Given the description of an element on the screen output the (x, y) to click on. 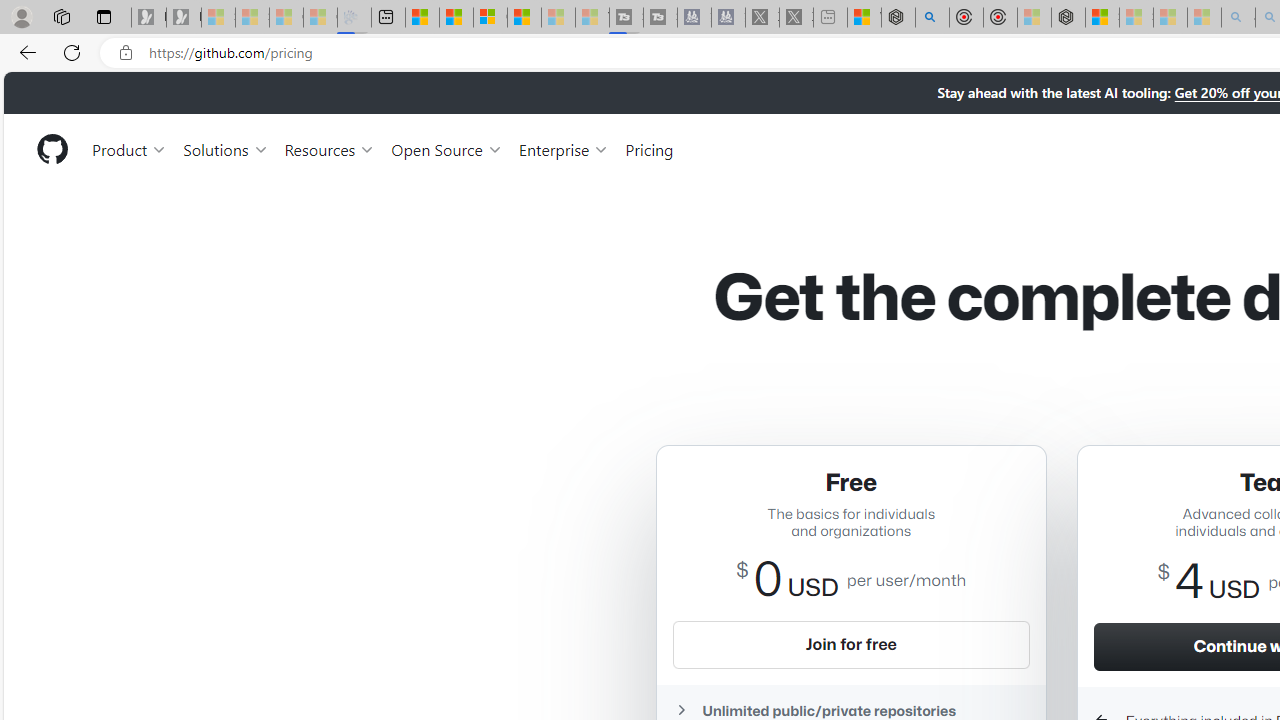
New tab - Sleeping (830, 17)
Enterprise (563, 148)
Open Source (446, 148)
Resources (330, 148)
Pricing (649, 148)
Streaming Coverage | T3 - Sleeping (626, 17)
Join for free (851, 643)
Newsletter Sign Up - Sleeping (183, 17)
Microsoft Start - Sleeping (557, 17)
Homepage (51, 149)
